Given the description of an element on the screen output the (x, y) to click on. 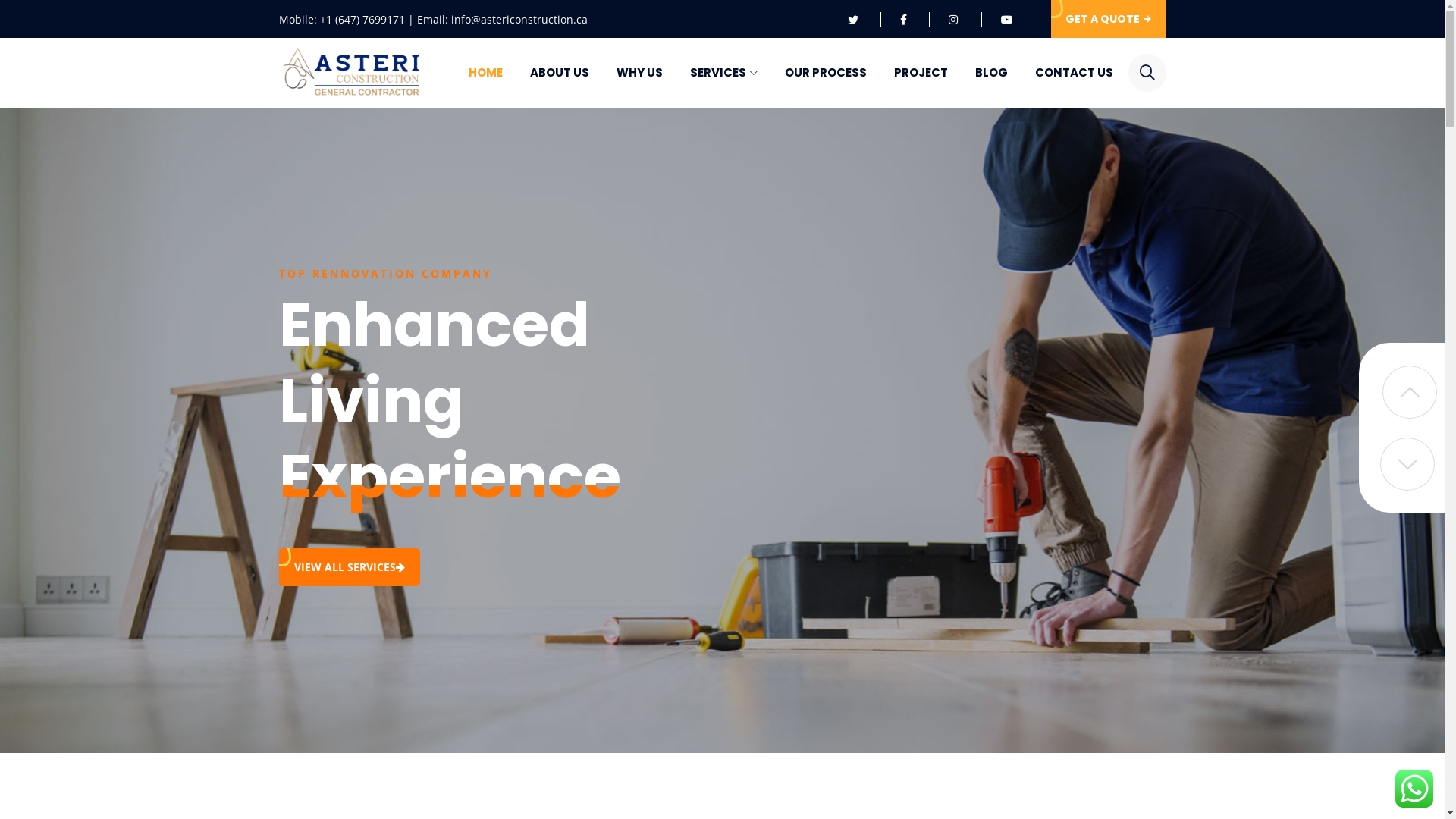
facebook-f Element type: hover (904, 19)
PROJECT Element type: text (920, 72)
instagram Element type: hover (954, 19)
VIEW ALL SERVICES Element type: text (349, 567)
+1 (647) 7699171 Element type: text (361, 19)
Asteri Construction Inc | Element type: hover (351, 73)
youtube Element type: hover (1007, 19)
HOME Element type: text (485, 72)
ABOUT US Element type: text (558, 72)
WHY US Element type: text (638, 72)
GET A QUOTE Element type: text (1108, 18)
OUR PROCESS Element type: text (825, 72)
BLOG Element type: text (991, 72)
info@astericonstruction.ca Element type: text (518, 19)
twitter Element type: hover (854, 19)
CONTACT US Element type: text (1073, 72)
SERVICES Element type: text (723, 72)
